Given the description of an element on the screen output the (x, y) to click on. 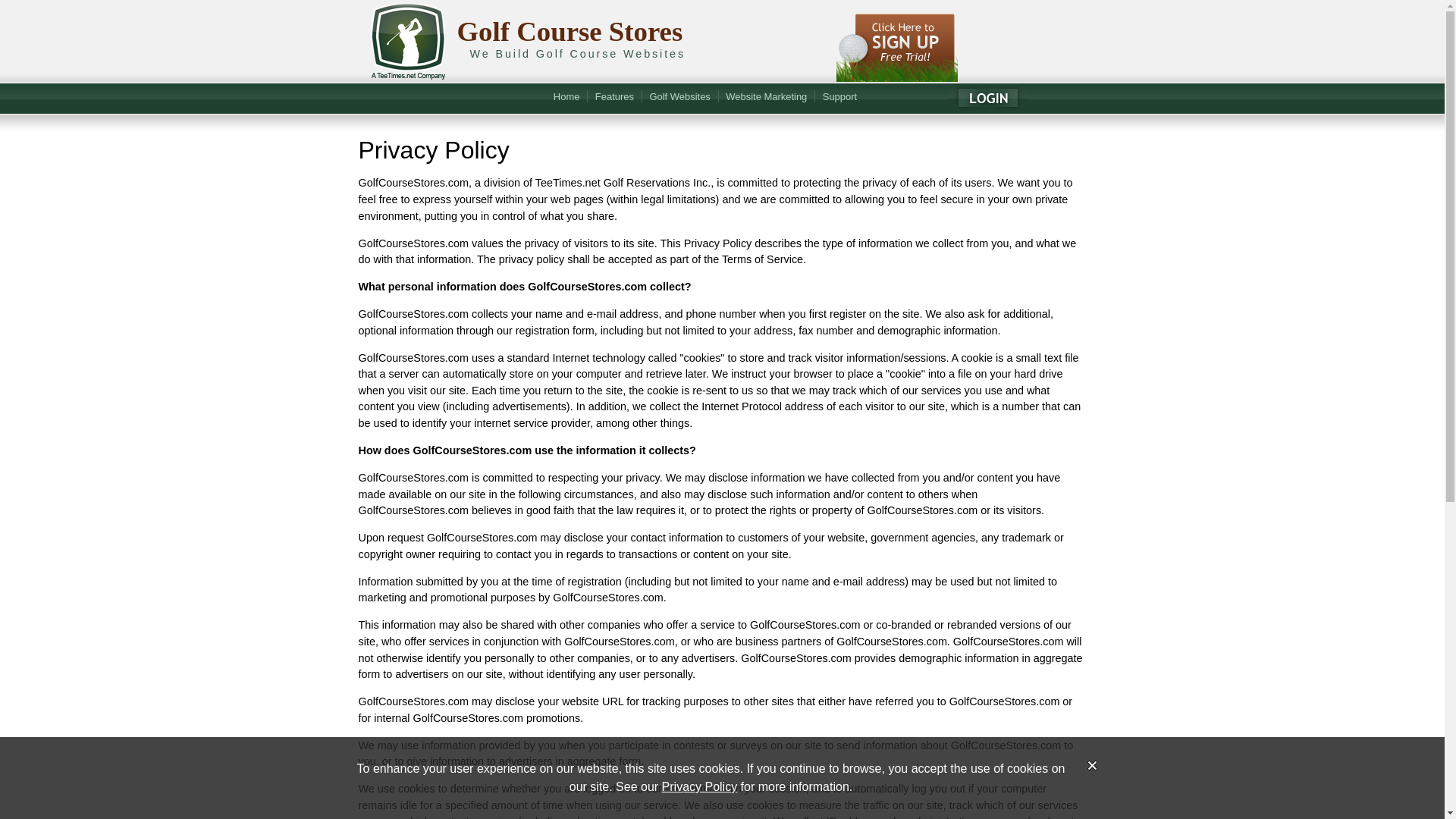
Website Marketing (765, 97)
Support (839, 97)
Golf Websites (679, 97)
Privacy Policy (700, 786)
Home (567, 97)
Features (615, 97)
